Given the description of an element on the screen output the (x, y) to click on. 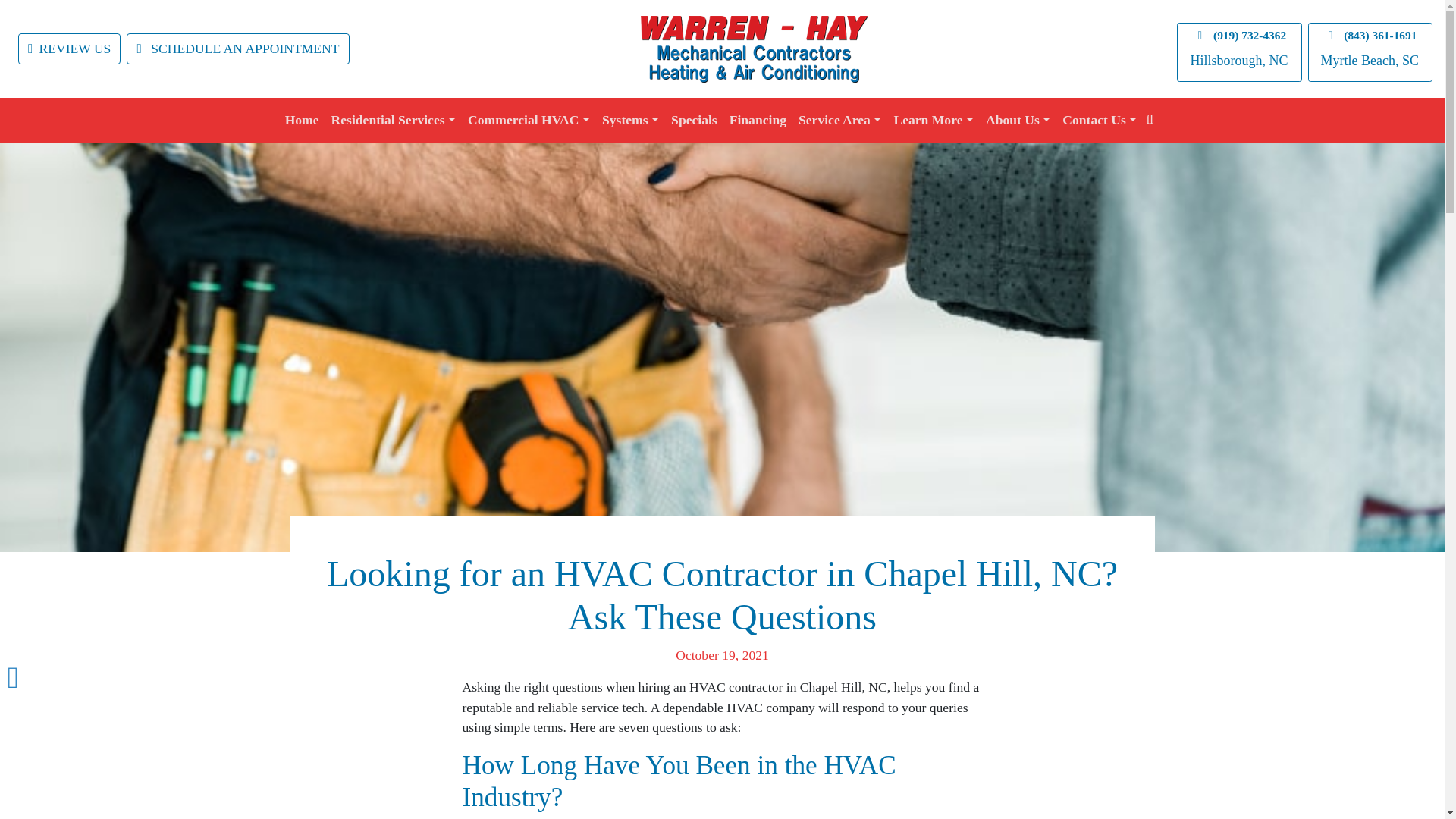
Service Area (839, 119)
SCHEDULE AN APPOINTMENT (237, 48)
Home (301, 119)
REVIEW US (68, 48)
Commercial HVAC (528, 119)
Residential Services (393, 119)
Systems (630, 119)
Financing (757, 119)
Specials (694, 119)
